Given the description of an element on the screen output the (x, y) to click on. 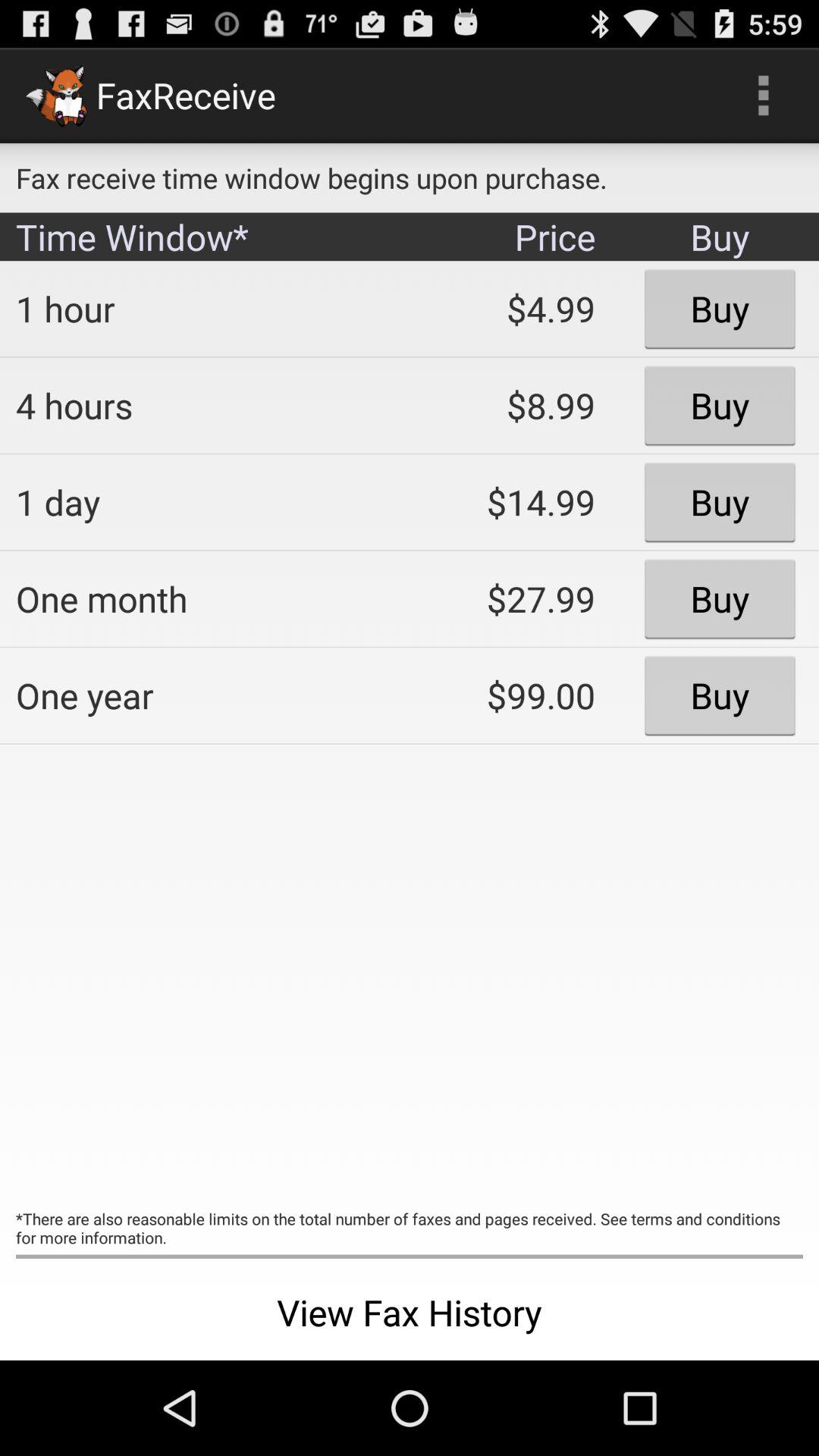
select the view fax history (409, 1312)
